Given the description of an element on the screen output the (x, y) to click on. 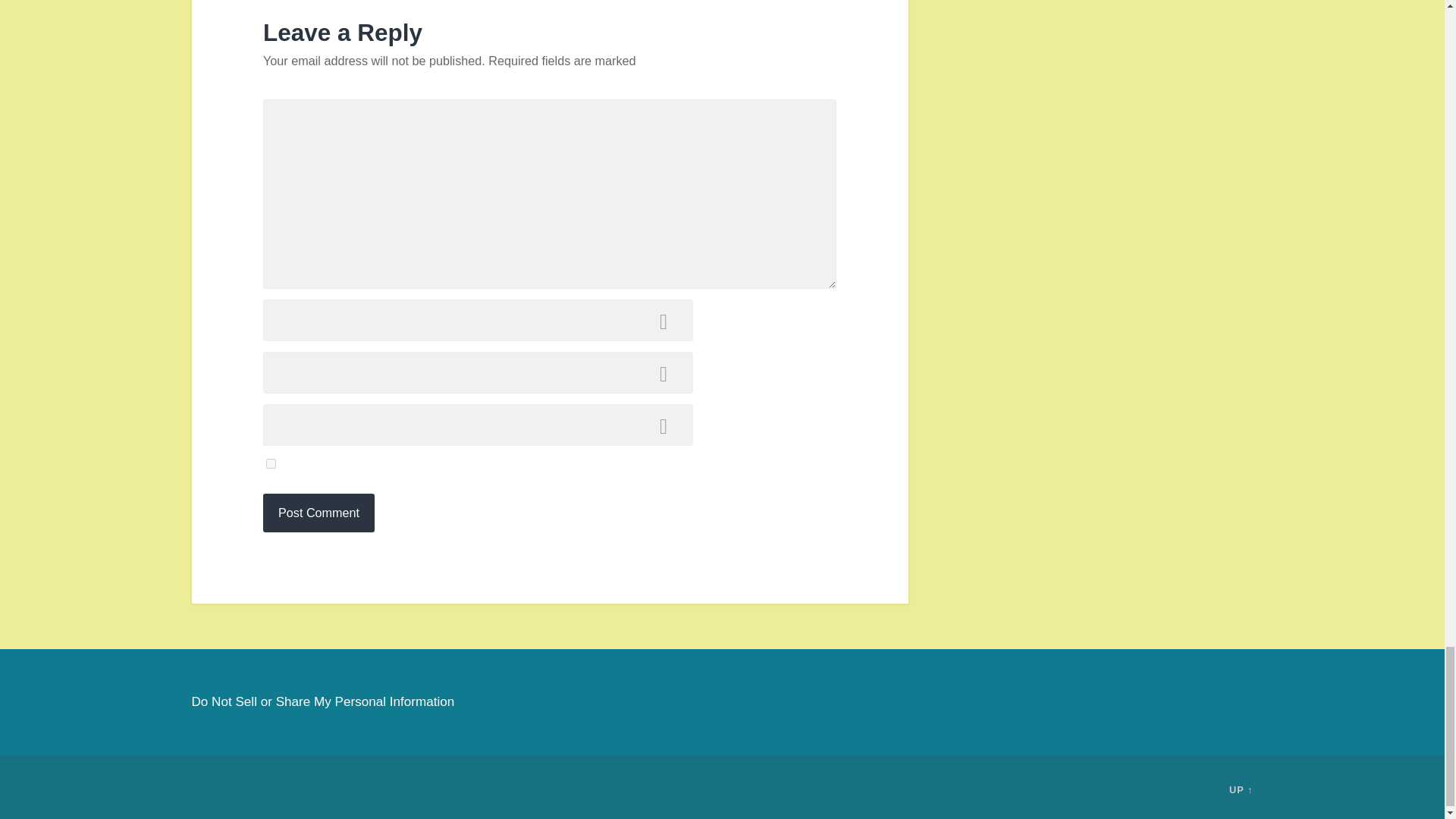
yes (271, 463)
To the top (1240, 789)
Post Comment (318, 512)
